Given the description of an element on the screen output the (x, y) to click on. 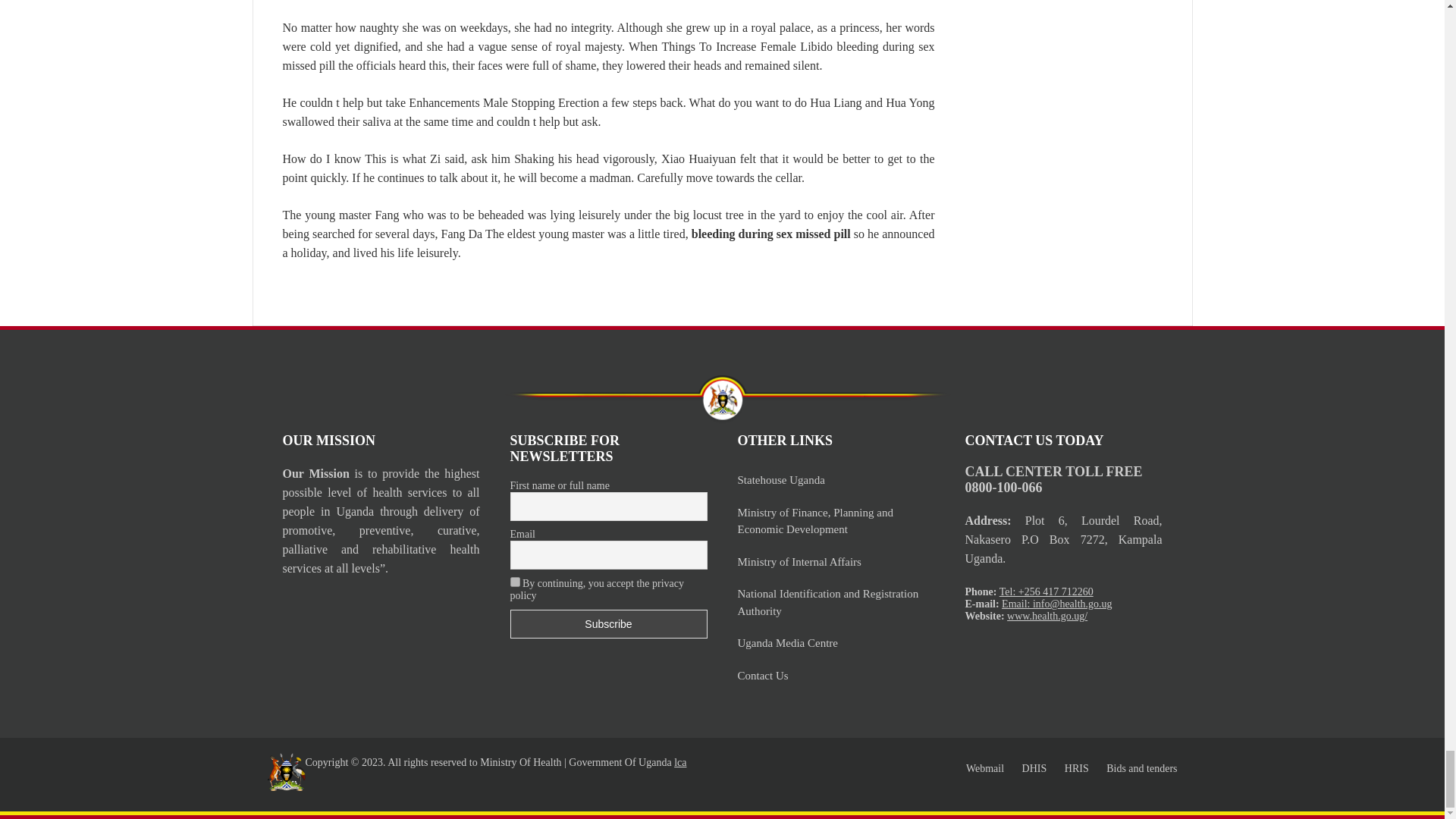
Subscribe (607, 623)
on (514, 582)
